Given the description of an element on the screen output the (x, y) to click on. 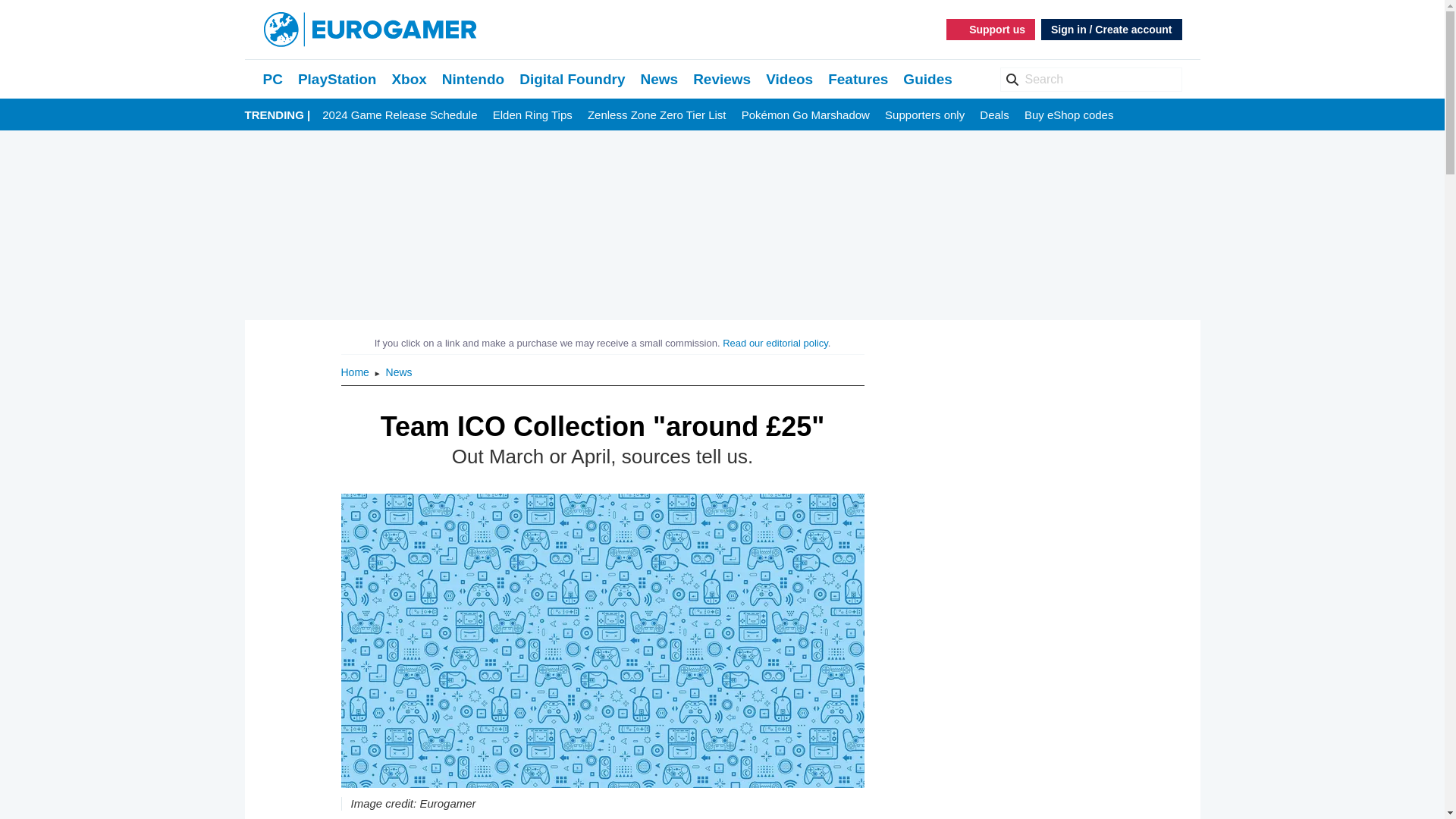
News (659, 78)
Digital Foundry (571, 78)
2024 Game Release Schedule (399, 114)
Reviews (722, 78)
Zenless Zone Zero Tier List (657, 114)
Features (858, 78)
Zenless Zone Zero Tier List (657, 114)
Supporters only (924, 114)
Deals (994, 114)
News (398, 372)
News (659, 78)
Supporters only (924, 114)
Nintendo (472, 78)
Videos (788, 78)
Deals (994, 114)
